Given the description of an element on the screen output the (x, y) to click on. 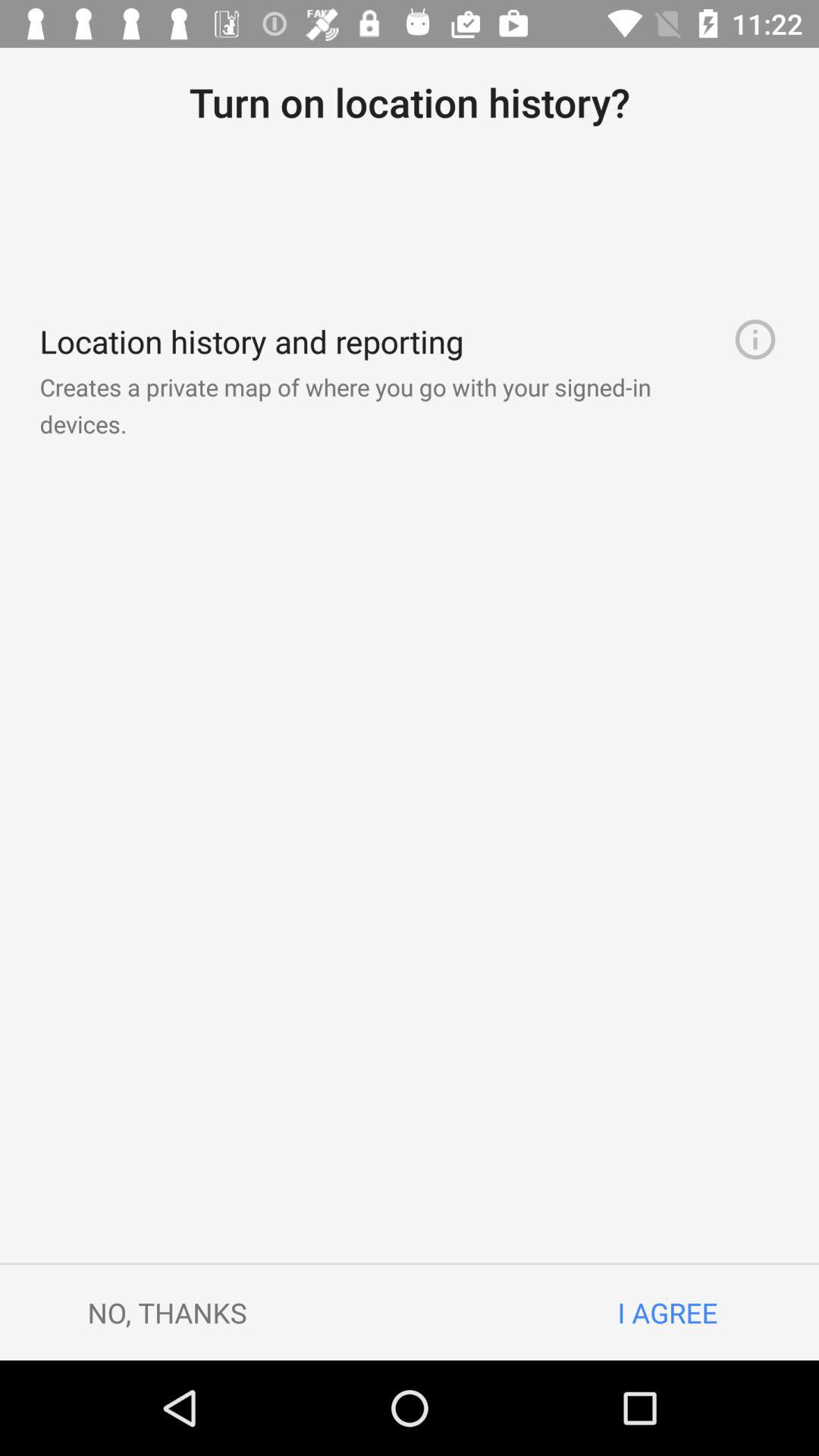
open icon above creates a private item (755, 339)
